Given the description of an element on the screen output the (x, y) to click on. 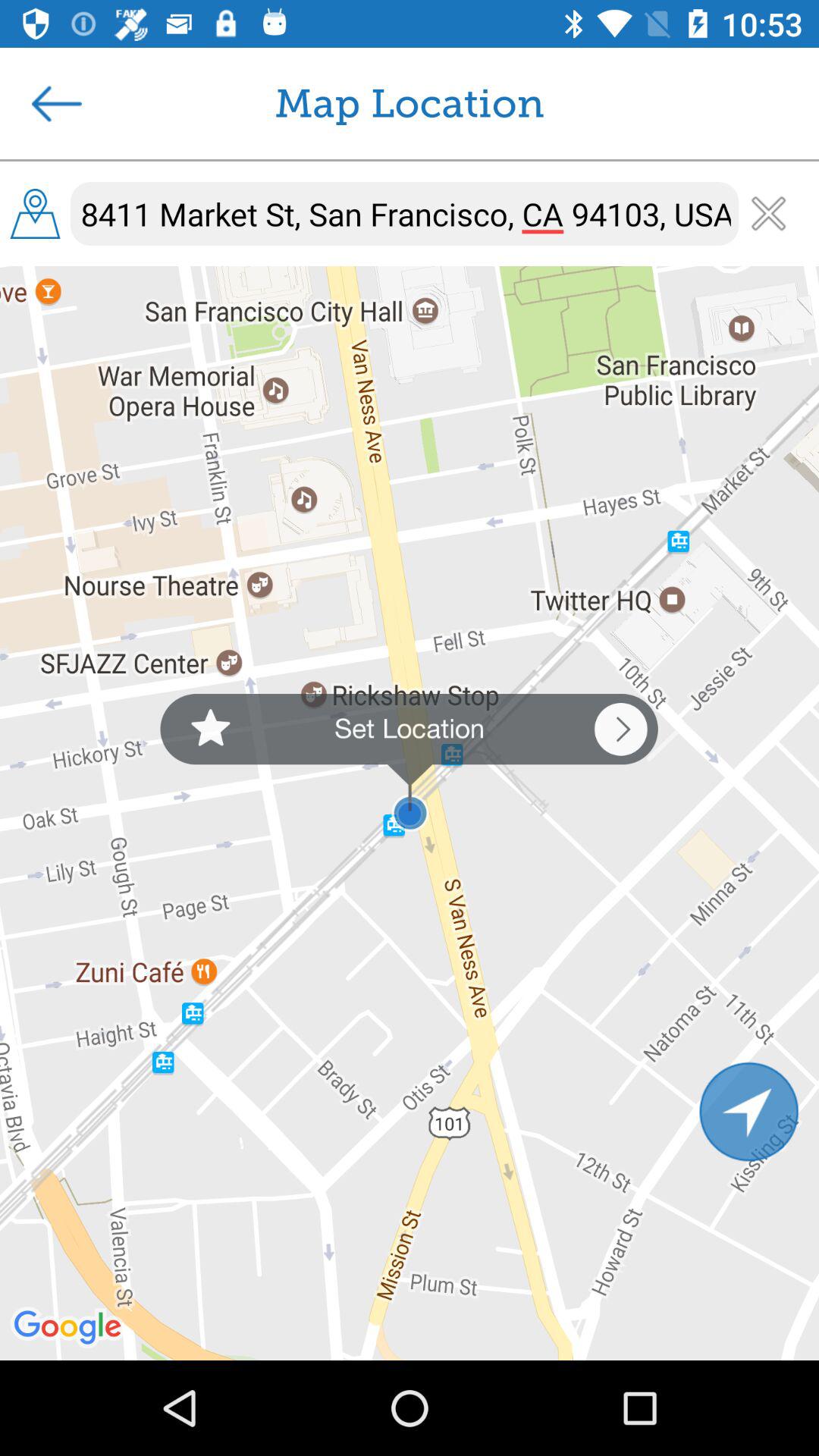
clear the search field (768, 213)
